Given the description of an element on the screen output the (x, y) to click on. 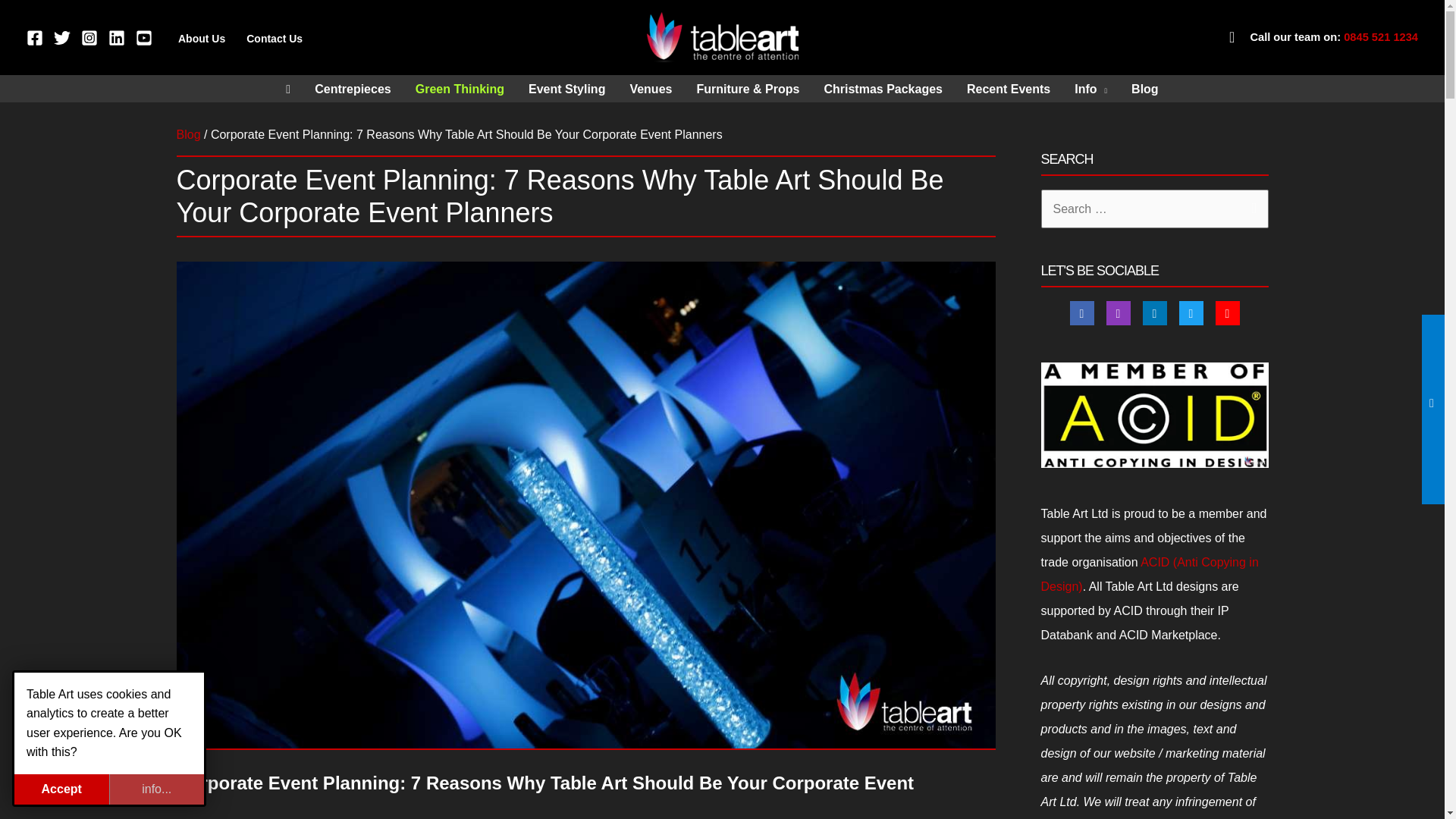
Contact Us (274, 38)
Blog (188, 133)
Follow us on Facebook (1080, 313)
Venues (650, 89)
Follow us on Twitter (1189, 313)
Event Styling (566, 89)
Green Thinking (459, 89)
Recent Events (1008, 89)
About Us (201, 38)
Centrepieces (352, 89)
